Given the description of an element on the screen output the (x, y) to click on. 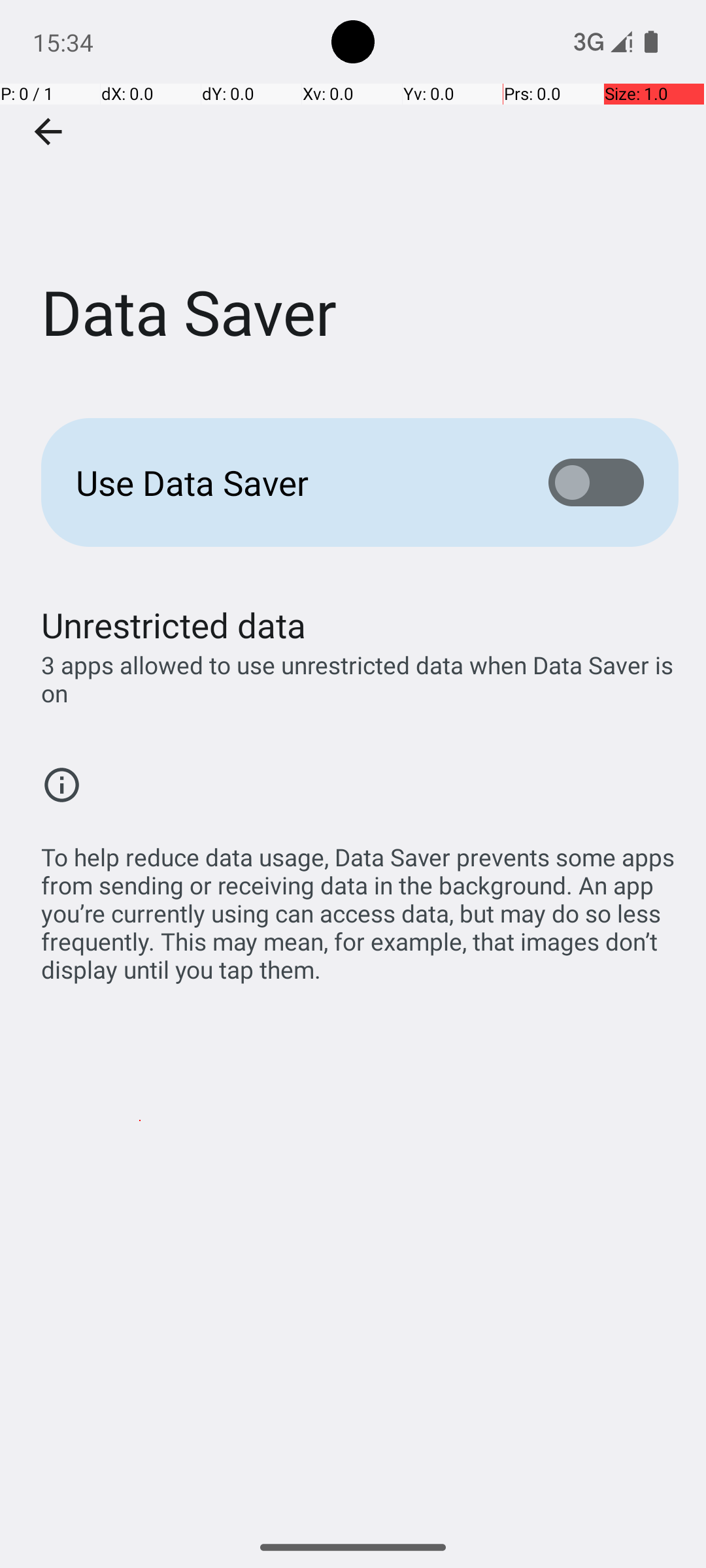
Use Data Saver Element type: android.widget.TextView (291, 482)
Unrestricted data Element type: android.widget.TextView (173, 624)
3 apps allowed to use unrestricted data when Data Saver is on Element type: android.widget.TextView (359, 678)
To help reduce data usage, Data Saver prevents some apps from sending or receiving data in the background. An app you’re currently using can access data, but may do so less frequently. This may mean, for example, that images don’t display until you tap them. Element type: android.widget.TextView (359, 905)
